Given the description of an element on the screen output the (x, y) to click on. 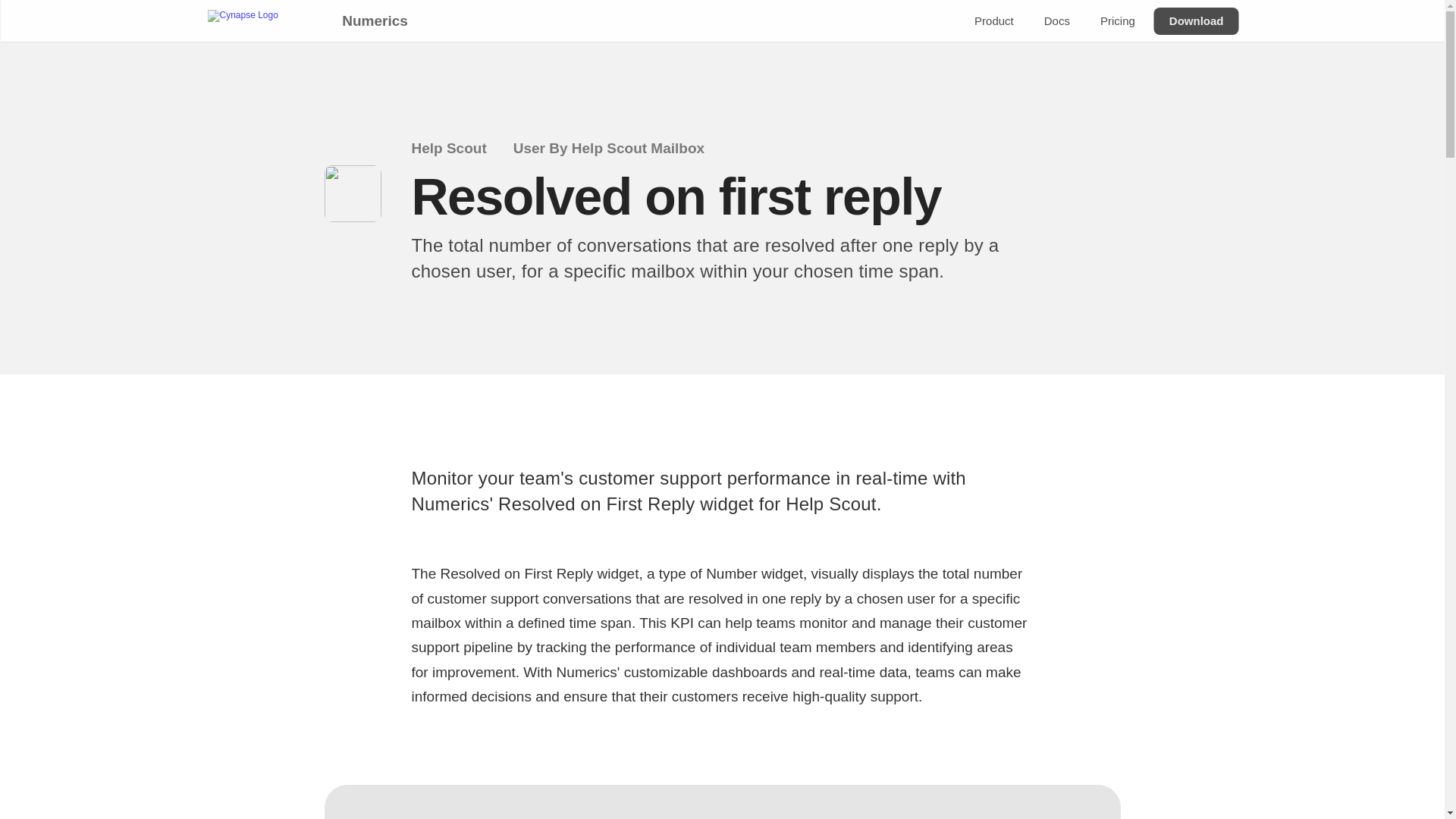
Help Scout (457, 148)
Product (993, 21)
Pricing (1116, 21)
Numerics (373, 20)
User By Help Scout Mailbox (618, 148)
Download (1196, 21)
Docs (1056, 21)
